Given the description of an element on the screen output the (x, y) to click on. 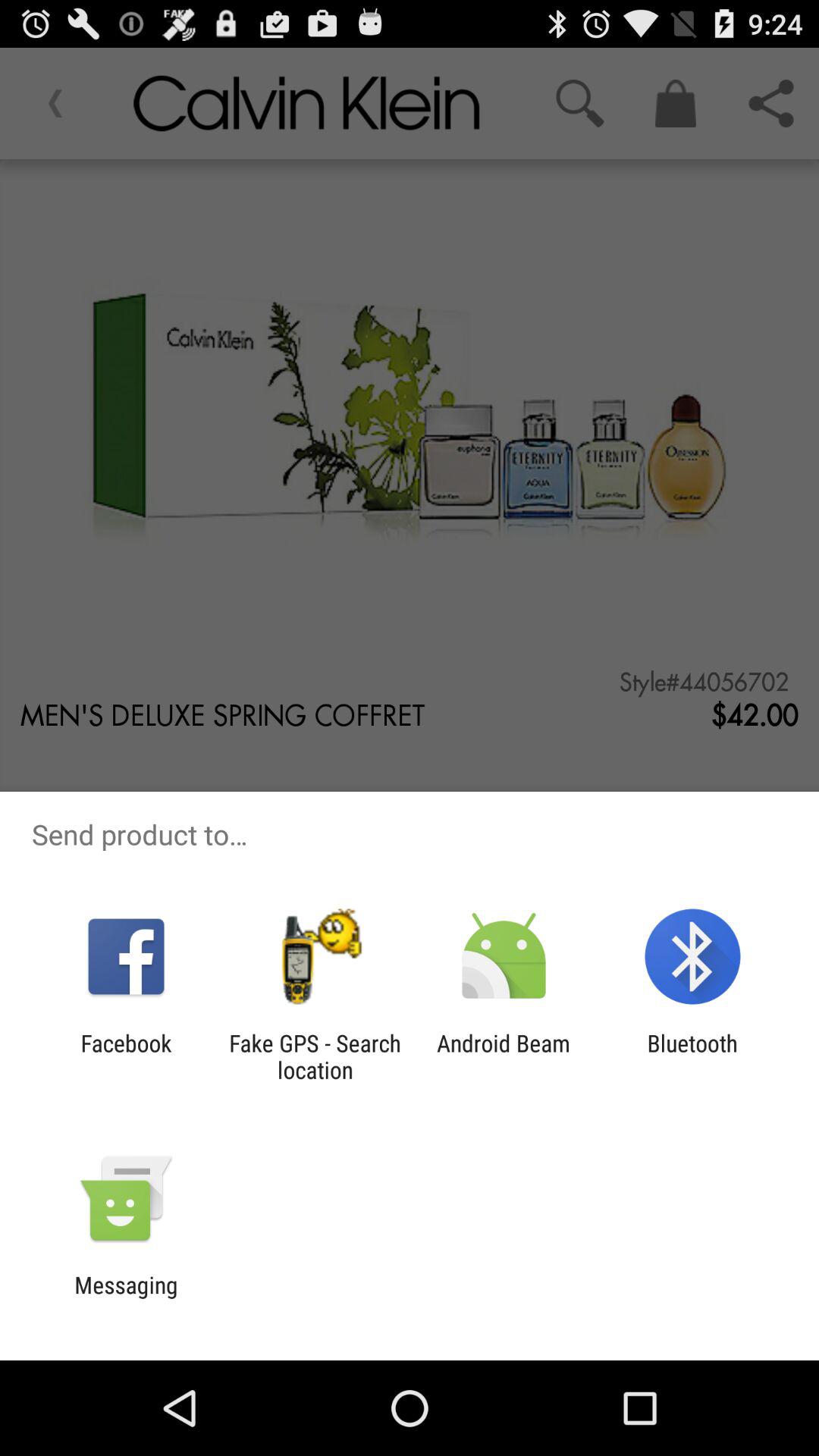
choose facebook app (125, 1056)
